Given the description of an element on the screen output the (x, y) to click on. 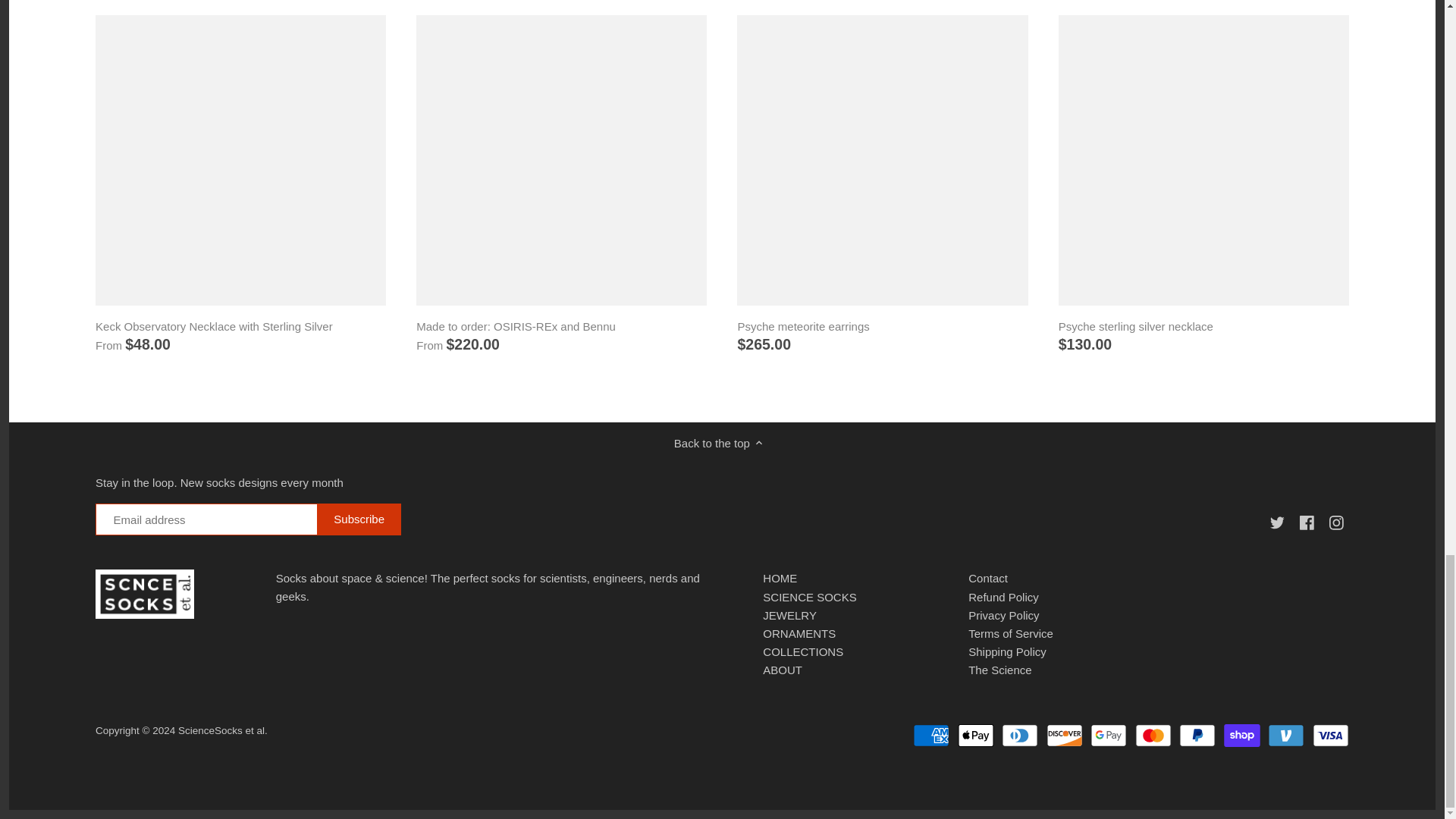
Twitter (1279, 521)
American Express (930, 734)
Shop Pay (1242, 734)
Twitter (1276, 522)
Facebook (1306, 522)
Instagram (1339, 521)
Facebook (1309, 521)
PayPal (1197, 734)
Apple Pay (976, 734)
Google Pay (1108, 734)
